Given the description of an element on the screen output the (x, y) to click on. 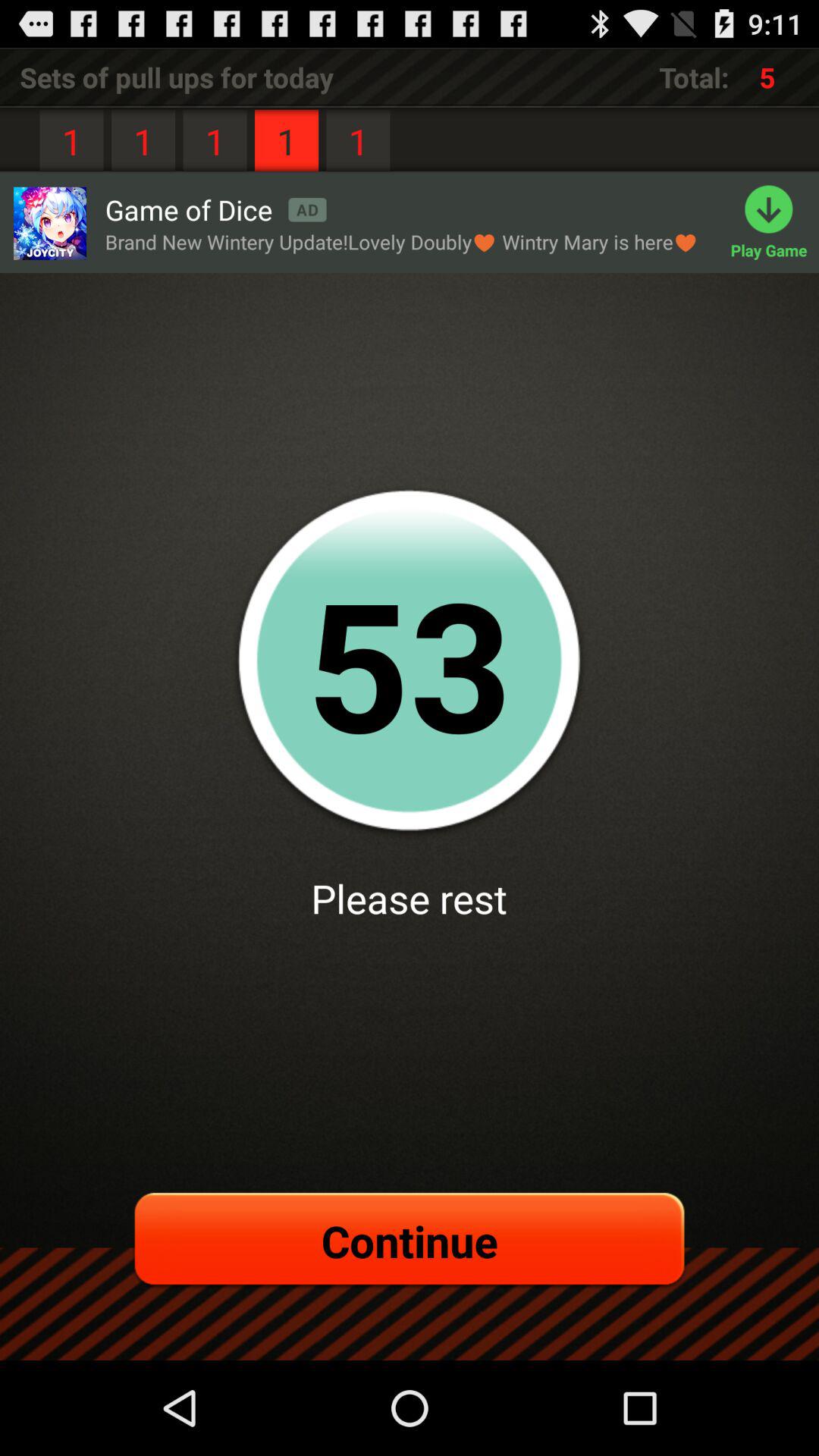
turn off the item next to play game (401, 241)
